Given the description of an element on the screen output the (x, y) to click on. 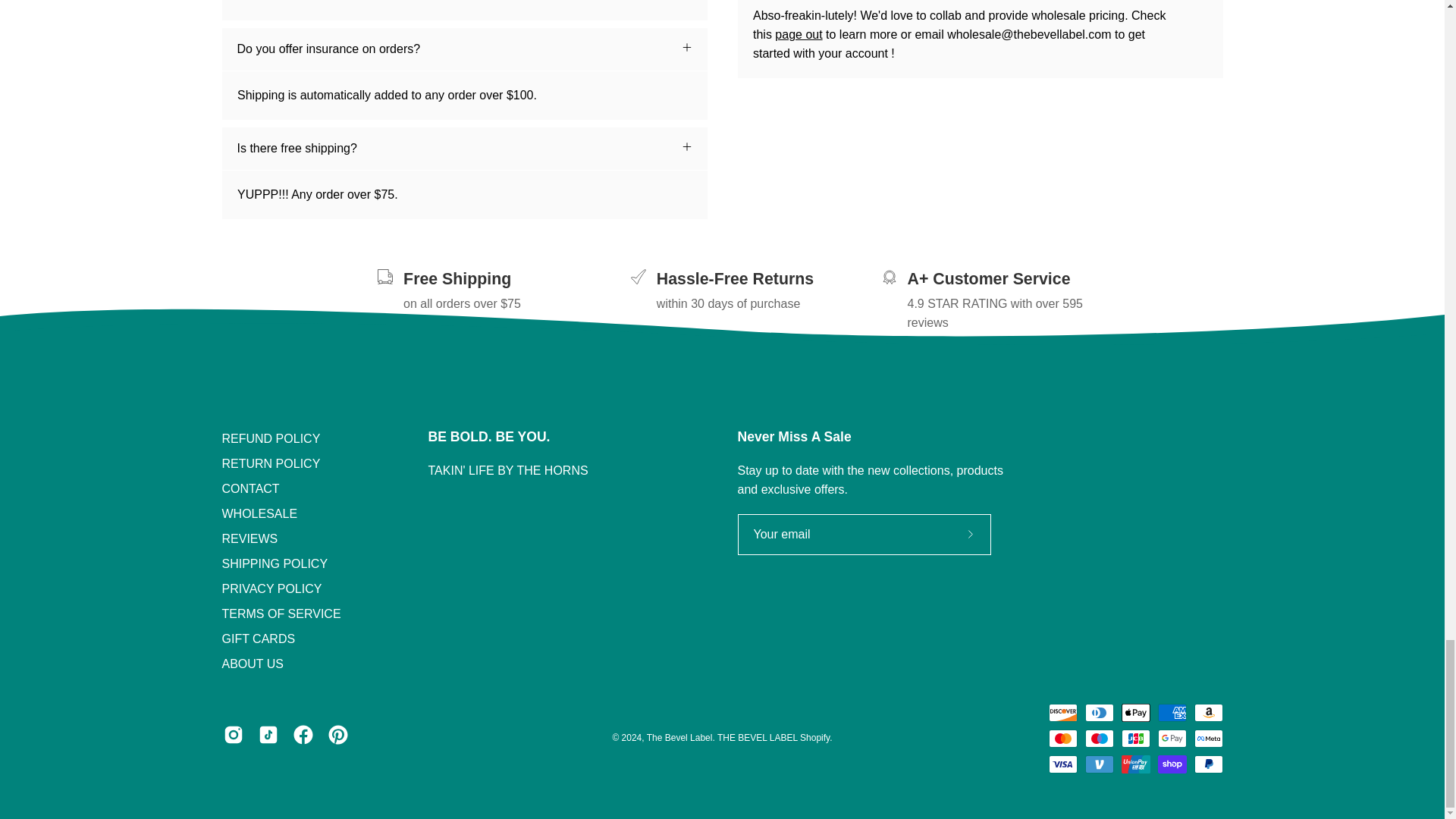
View The Bevel Label on Pinterest (337, 734)
View The Bevel Label on Instagram (232, 734)
View The Bevel Label on Tiktok (267, 734)
View The Bevel Label on Facebook (302, 734)
Wholesale (798, 33)
